Given the description of an element on the screen output the (x, y) to click on. 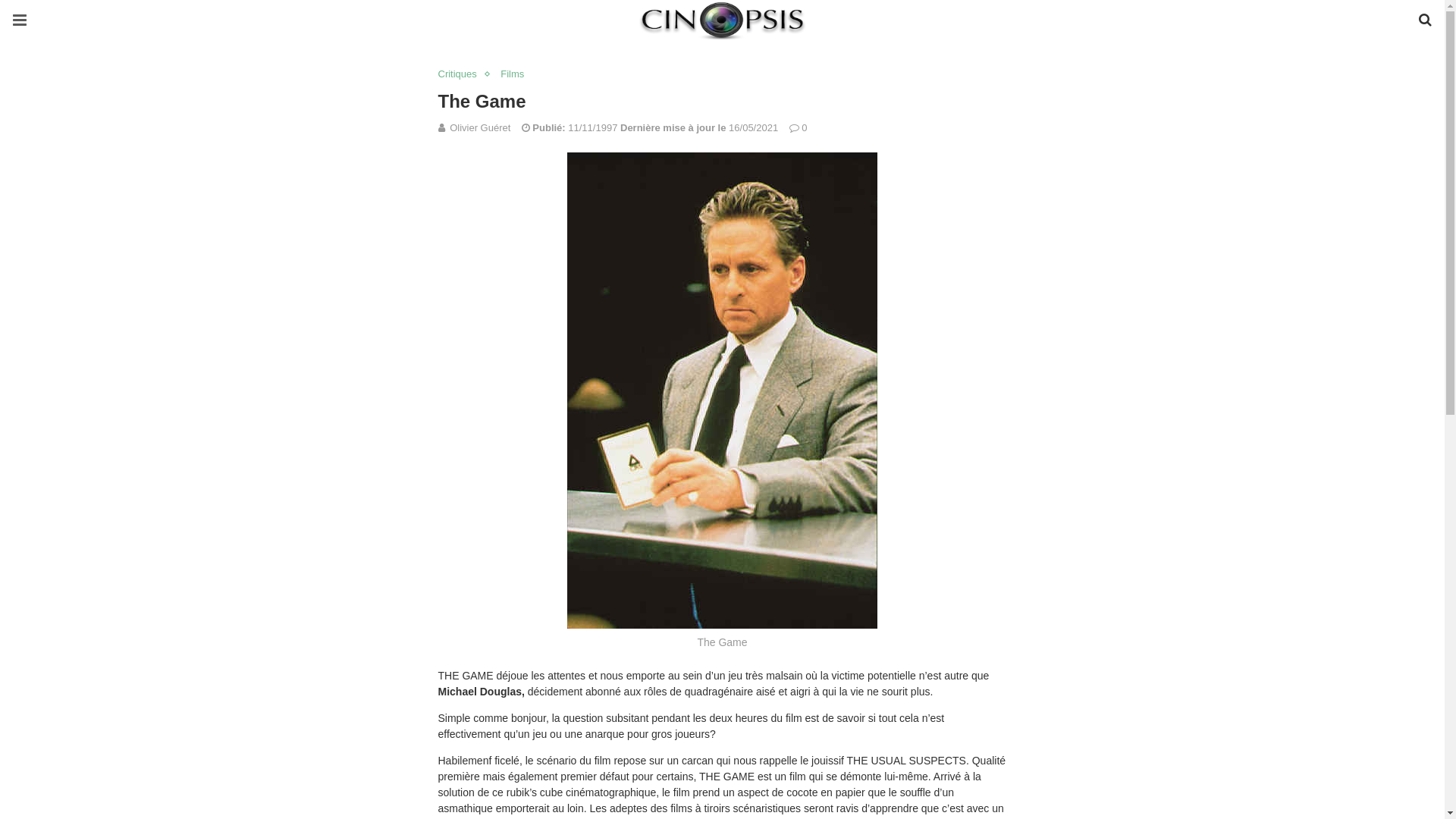
Critiques Element type: text (461, 74)
0 Element type: text (797, 127)
Films Element type: text (515, 74)
